Given the description of an element on the screen output the (x, y) to click on. 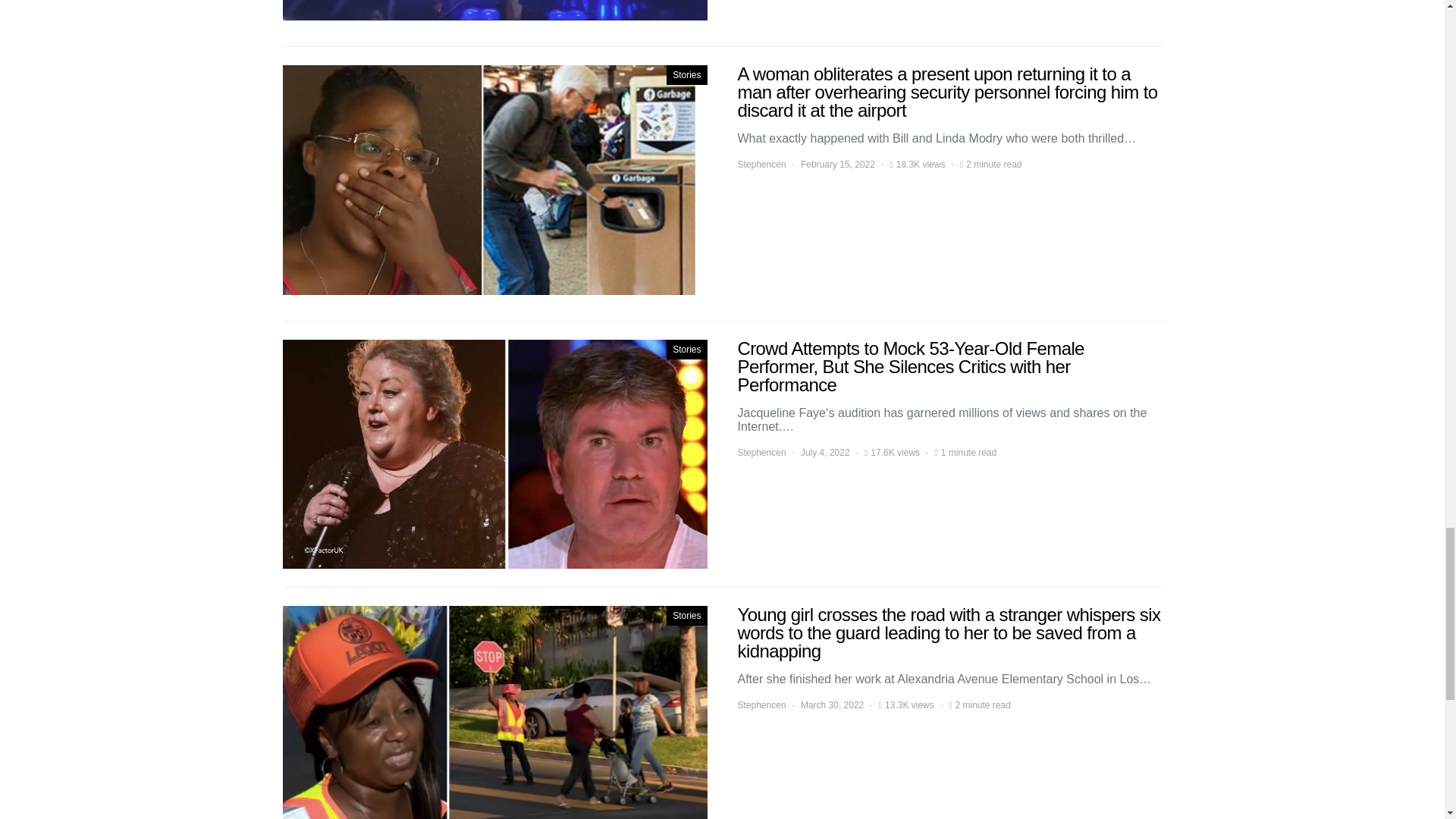
View all posts by Stephencen (761, 164)
View all posts by Stephencen (761, 704)
Stephencen (761, 704)
Stephencen (761, 164)
Stories (686, 615)
Stephencen (761, 452)
View all posts by Stephencen (761, 452)
Stories (686, 349)
Stories (686, 75)
